Given the description of an element on the screen output the (x, y) to click on. 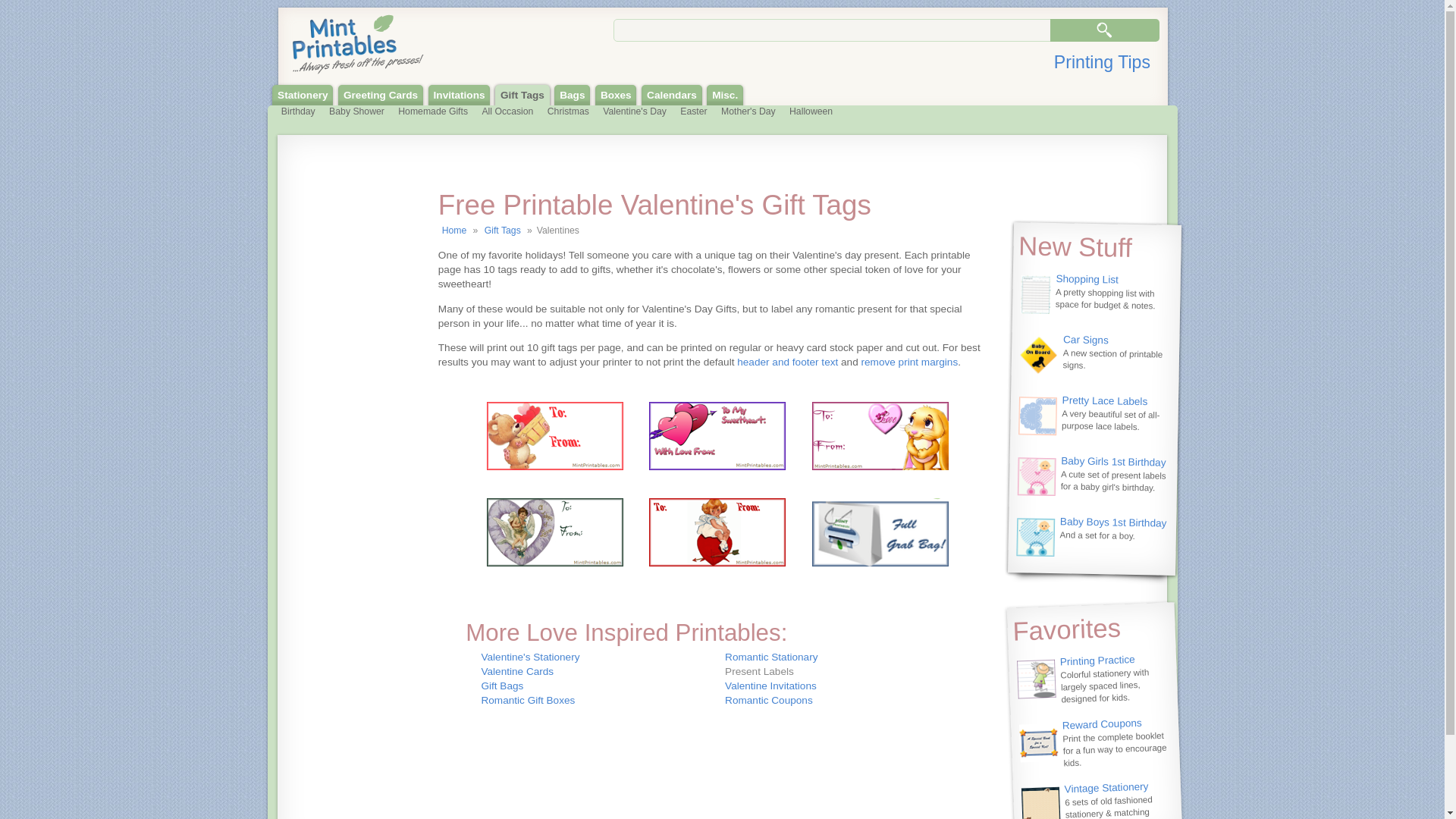
Stationery (302, 96)
All Occasion (506, 112)
Halloween (810, 112)
Reward Coupons (1101, 722)
Baby Girls 1st Birthday (1113, 460)
Baby Shower (356, 112)
Search (1103, 29)
header and footer text (787, 361)
Romantic Coupons (768, 699)
Gift Tags (501, 230)
